Given the description of an element on the screen output the (x, y) to click on. 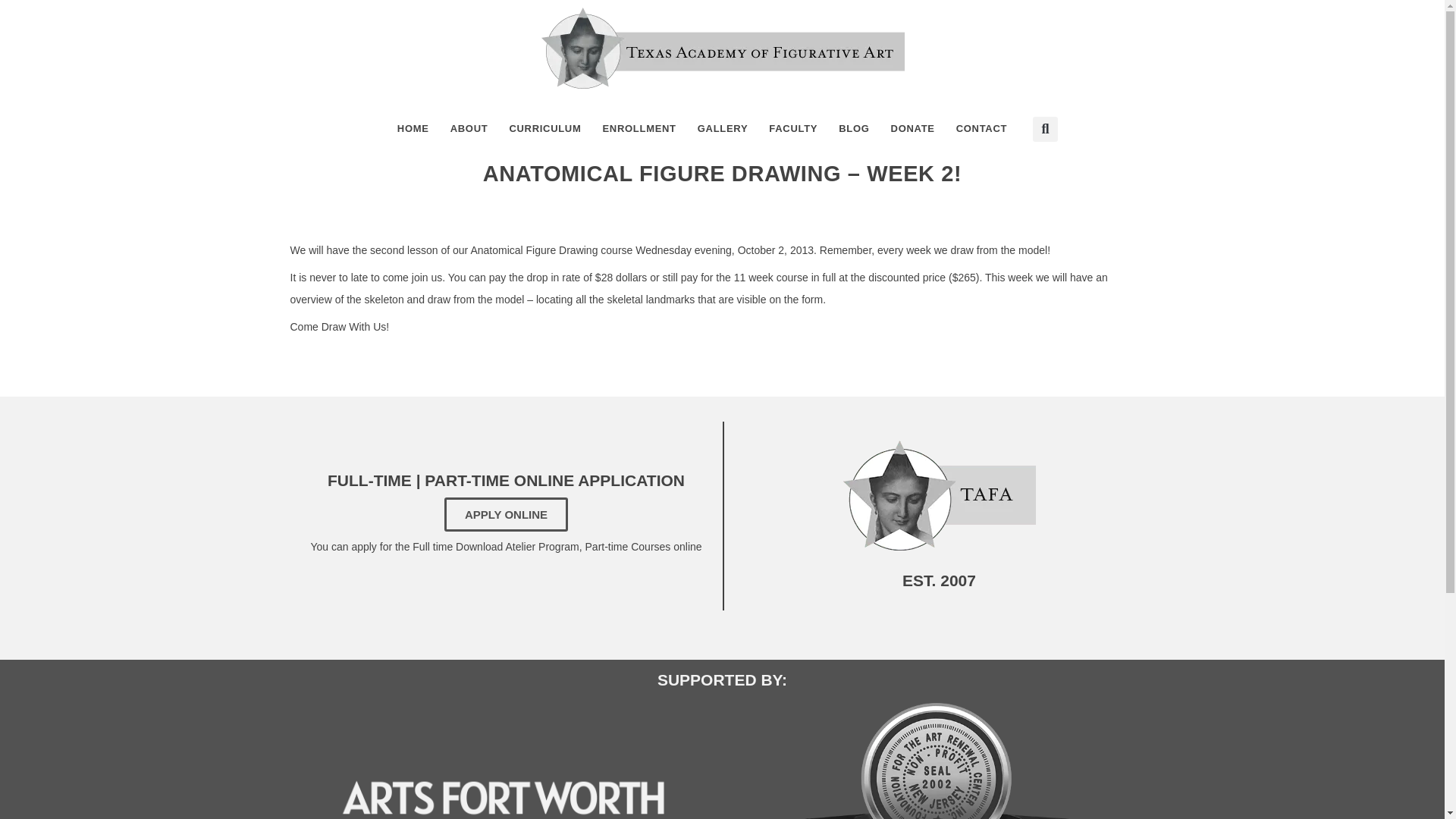
ENROLLMENT (638, 128)
FACULTY (793, 128)
GALLERY (722, 128)
DONATE (912, 128)
BLOG (853, 128)
ABOUT (469, 128)
CONTACT (980, 128)
HOME (413, 128)
APPLY ONLINE (505, 514)
CURRICULUM (544, 128)
